Given the description of an element on the screen output the (x, y) to click on. 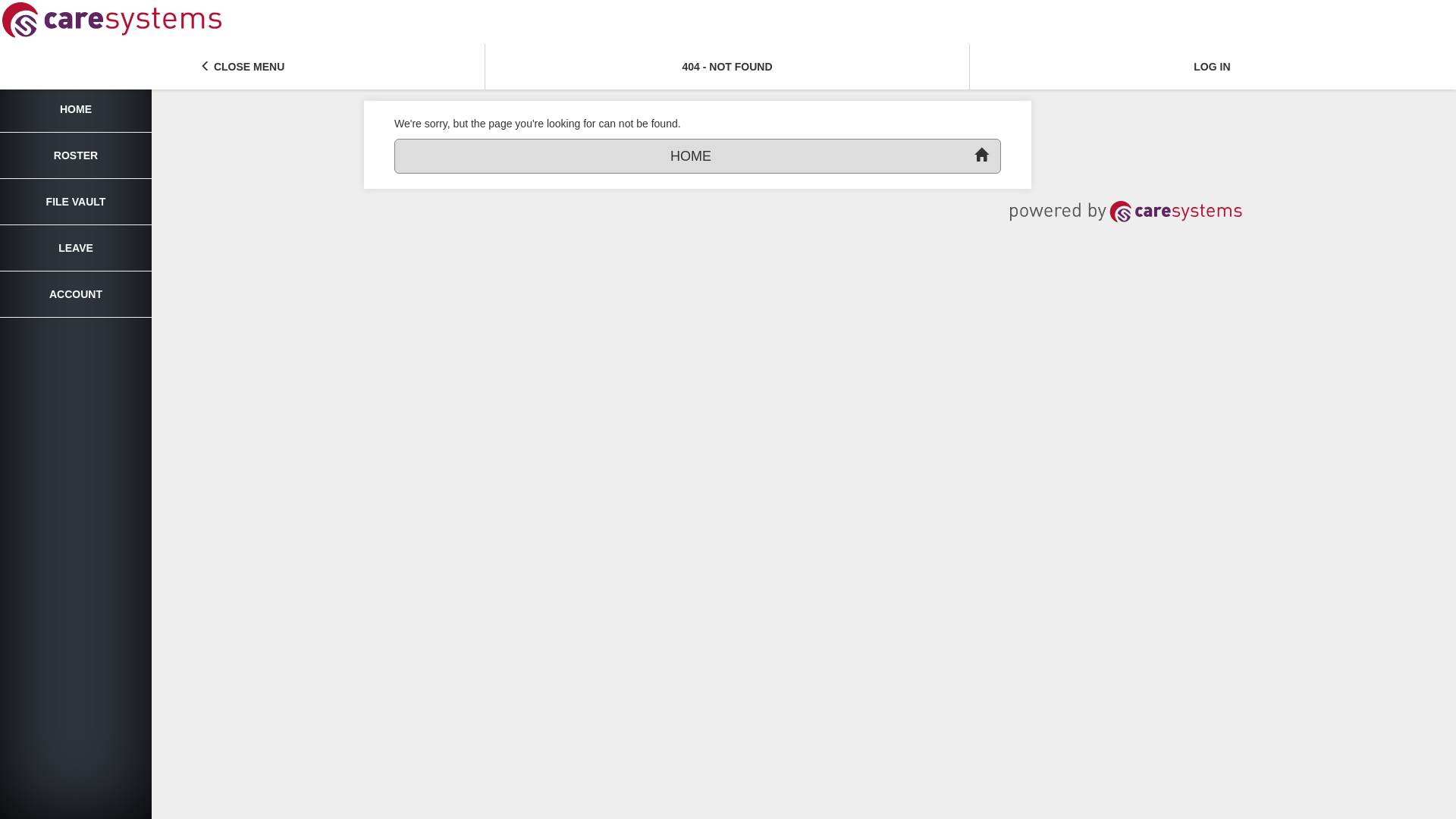
CLOSE MENU Element type: text (242, 66)
HOME Element type: text (697, 155)
LEAVE Element type: text (75, 248)
ROSTER Element type: text (75, 155)
ACCOUNT Element type: text (75, 294)
LOG IN Element type: text (1211, 66)
FILE VAULT Element type: text (75, 201)
HOME Element type: text (75, 109)
